Given the description of an element on the screen output the (x, y) to click on. 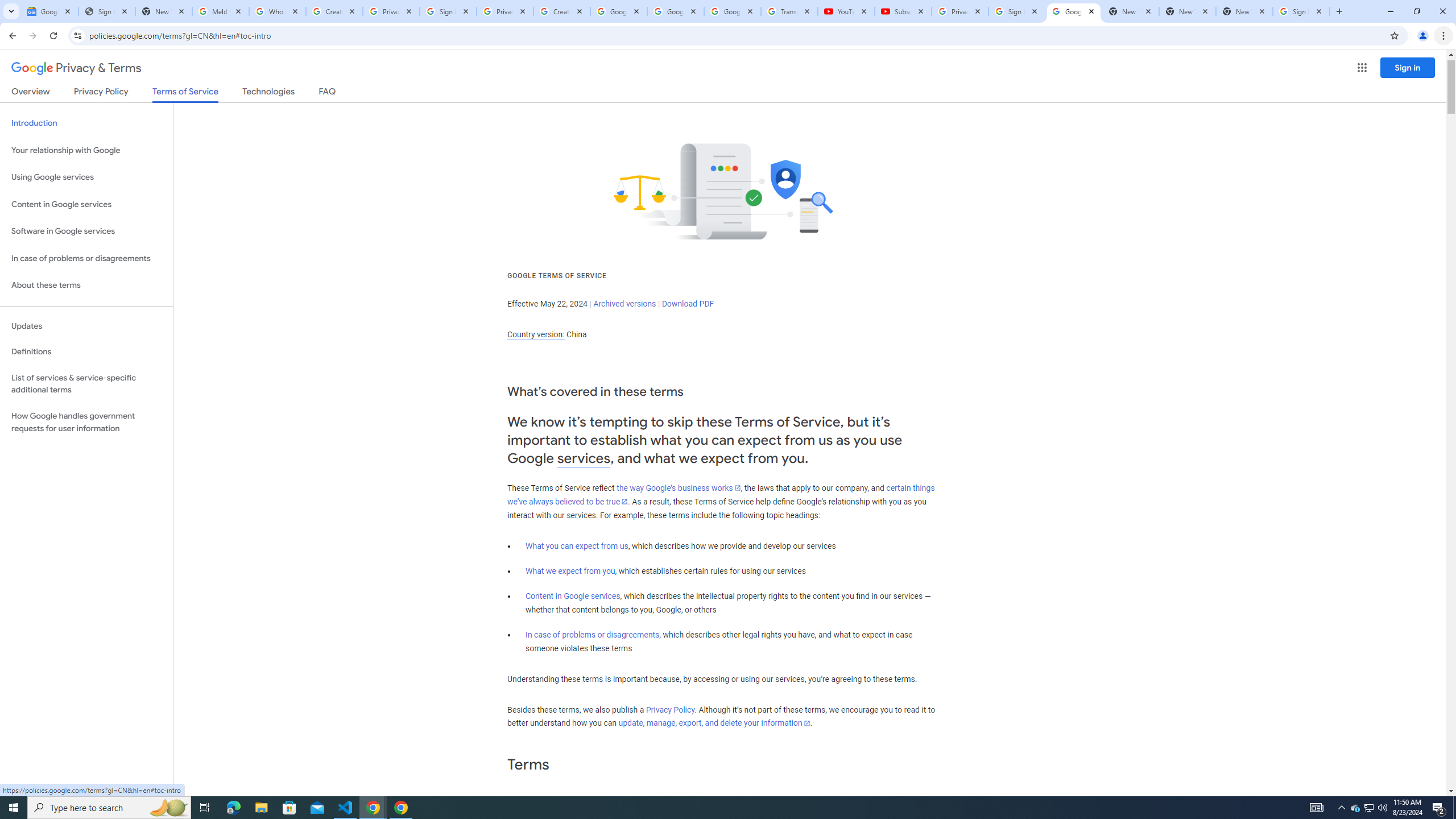
Google News (49, 11)
YouTube (845, 11)
